Given the description of an element on the screen output the (x, y) to click on. 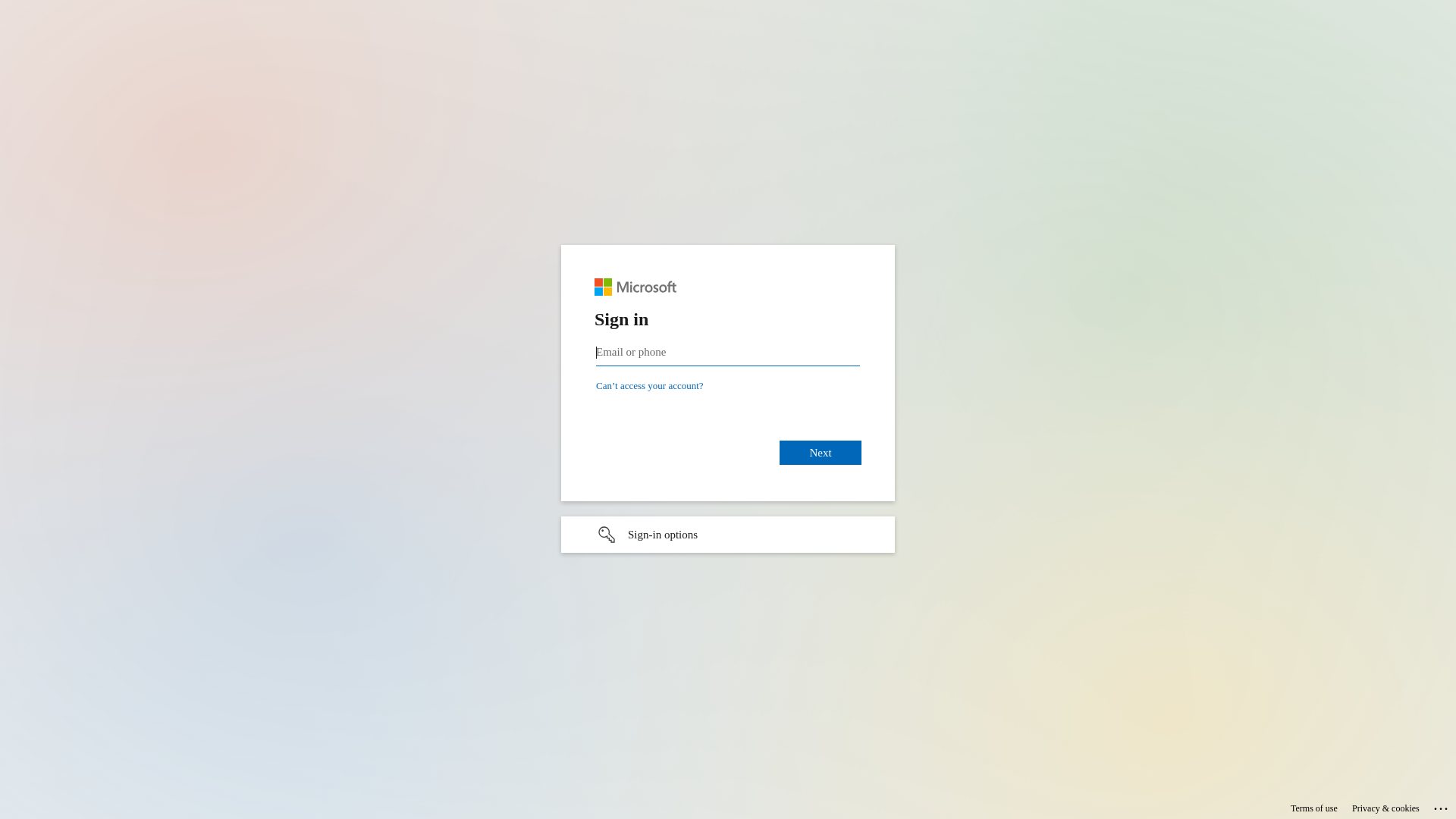
... Element type: text (1441, 805)
Next Element type: text (820, 452)
